Given the description of an element on the screen output the (x, y) to click on. 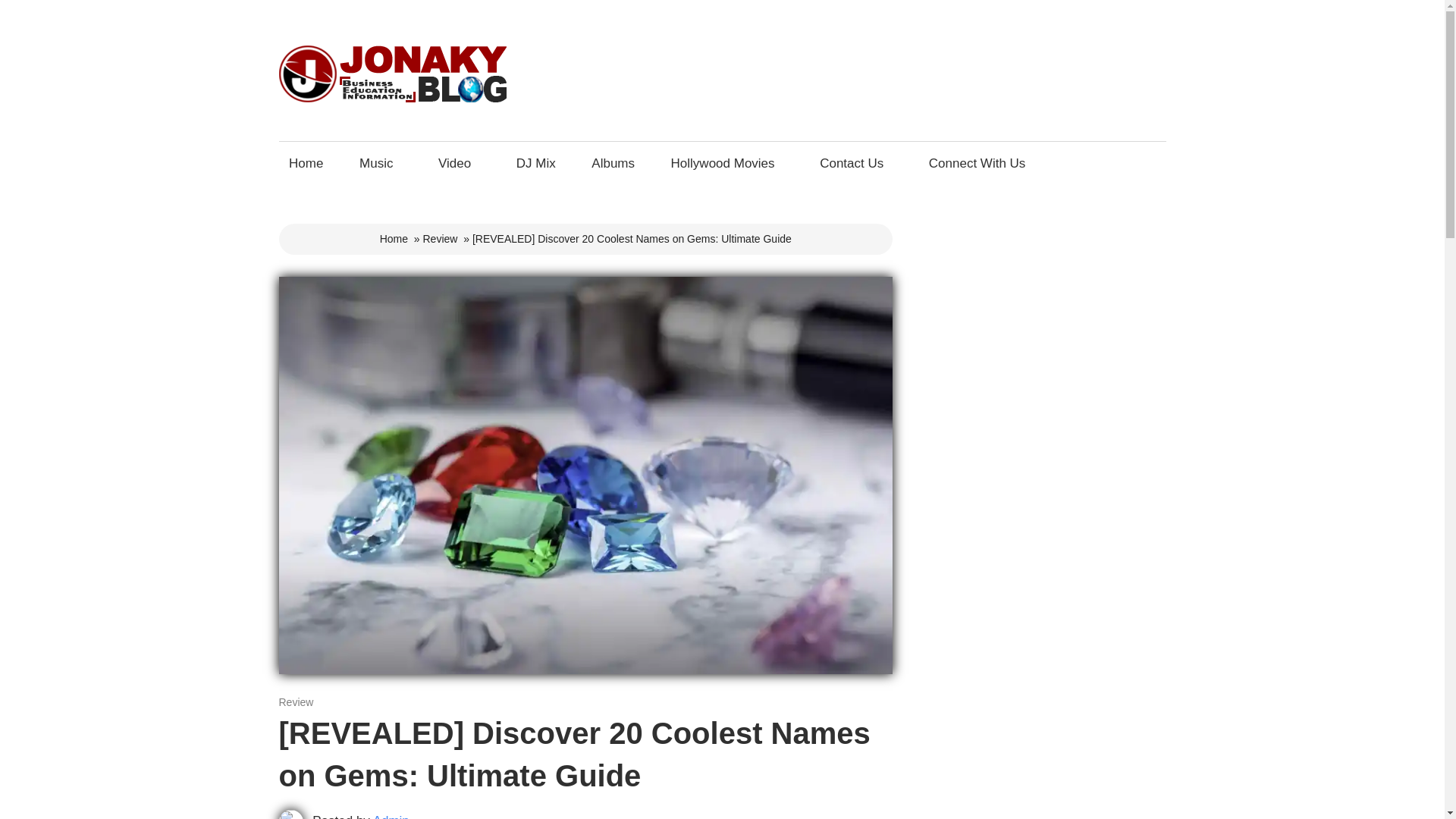
Review (440, 238)
6:24 am (314, 702)
Home (393, 238)
DJ Mix (535, 162)
Contact Us (855, 162)
Hollywood Movies (727, 162)
Music (380, 162)
Albums (612, 162)
Video (458, 162)
Review (296, 702)
